Given the description of an element on the screen output the (x, y) to click on. 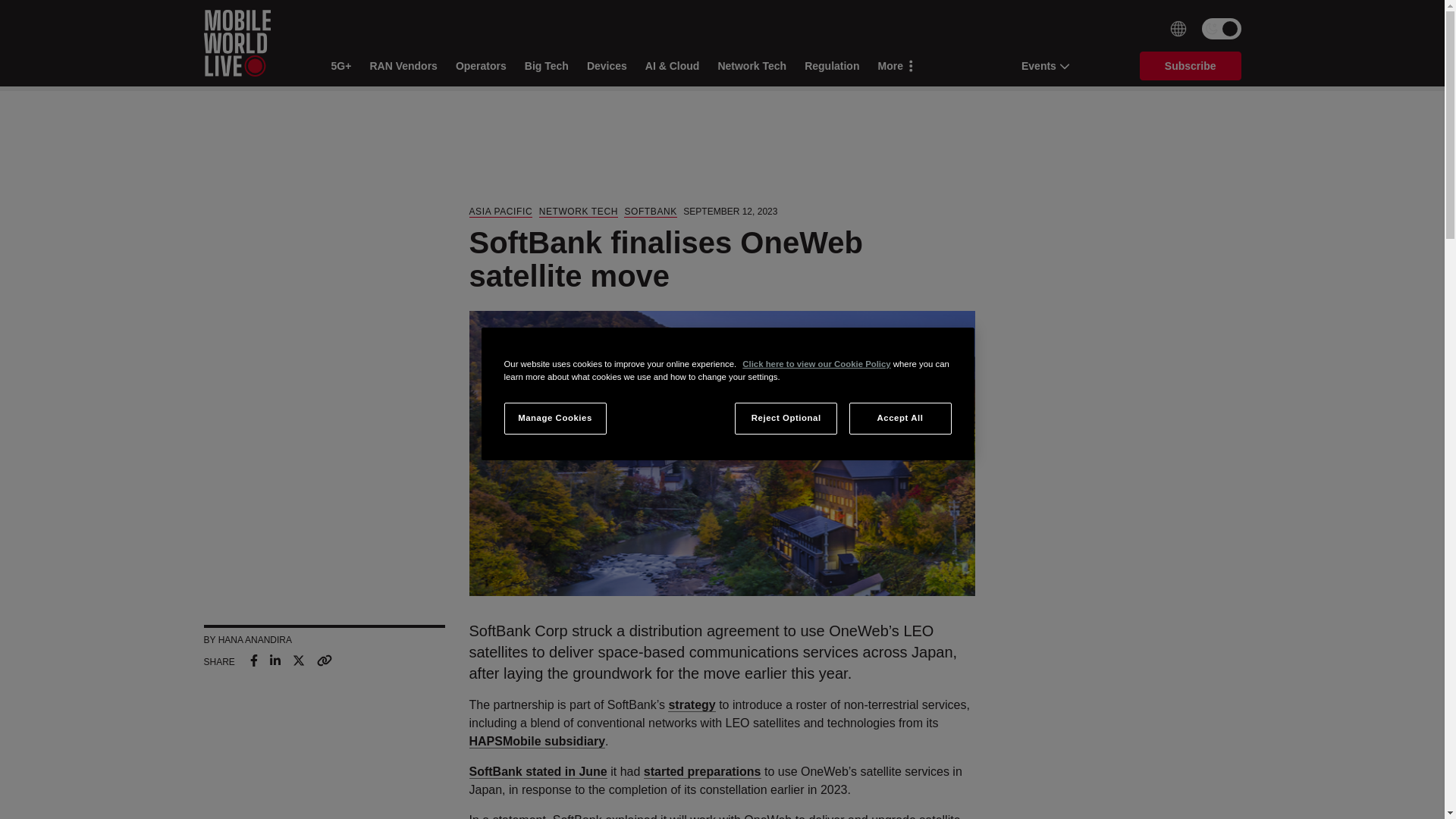
RAN Vendors (402, 65)
Subscribe (1190, 65)
Events (1040, 65)
Regulation (832, 65)
Operators (480, 65)
Devices (606, 65)
Network Tech (751, 65)
Big Tech (546, 65)
